Given the description of an element on the screen output the (x, y) to click on. 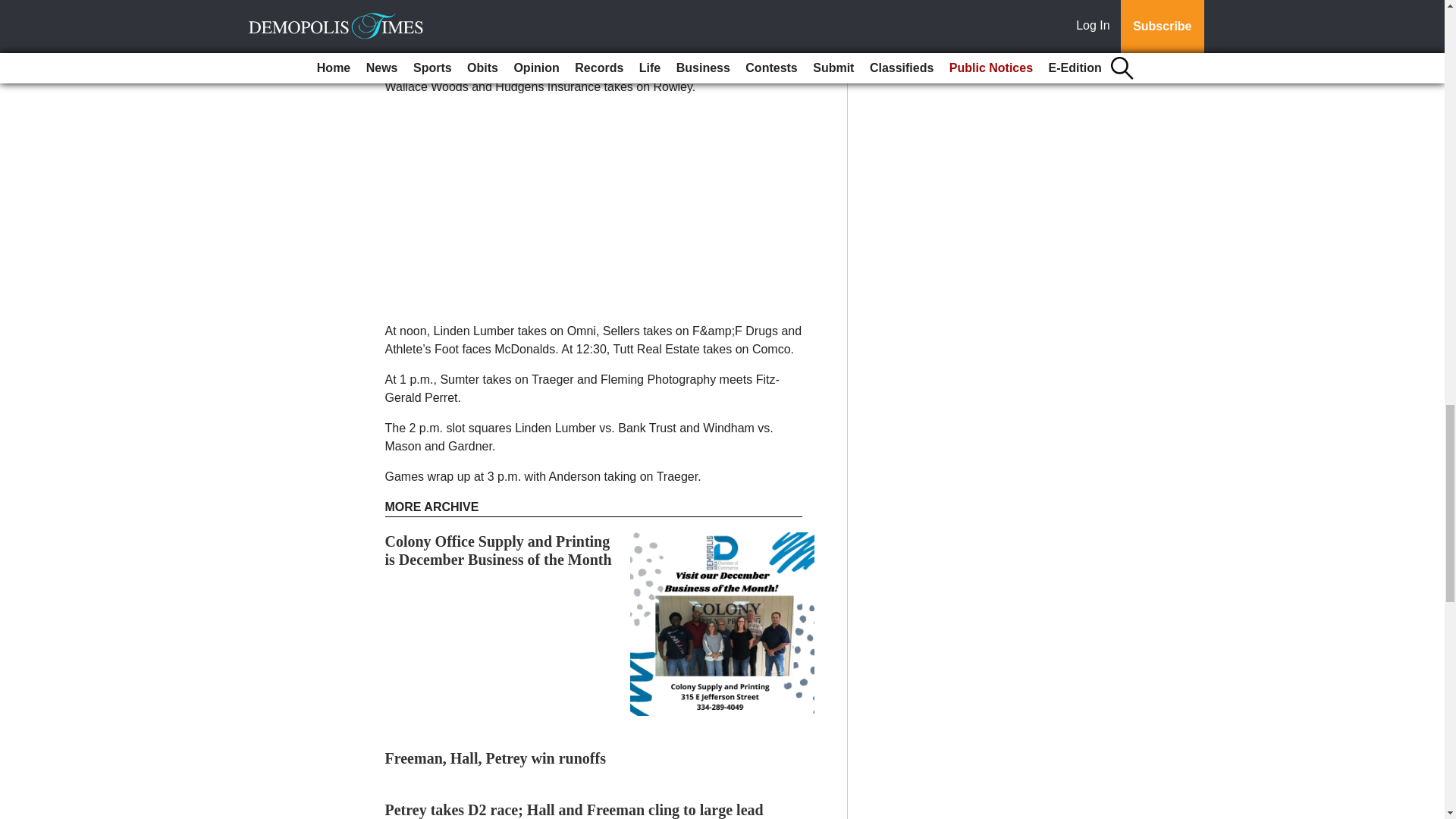
Freeman, Hall, Petrey win runoffs (495, 758)
Freeman, Hall, Petrey win runoffs (495, 758)
Petrey takes D2 race; Hall and Freeman cling to large lead (573, 809)
Petrey takes D2 race; Hall and Freeman cling to large lead (573, 809)
